Given the description of an element on the screen output the (x, y) to click on. 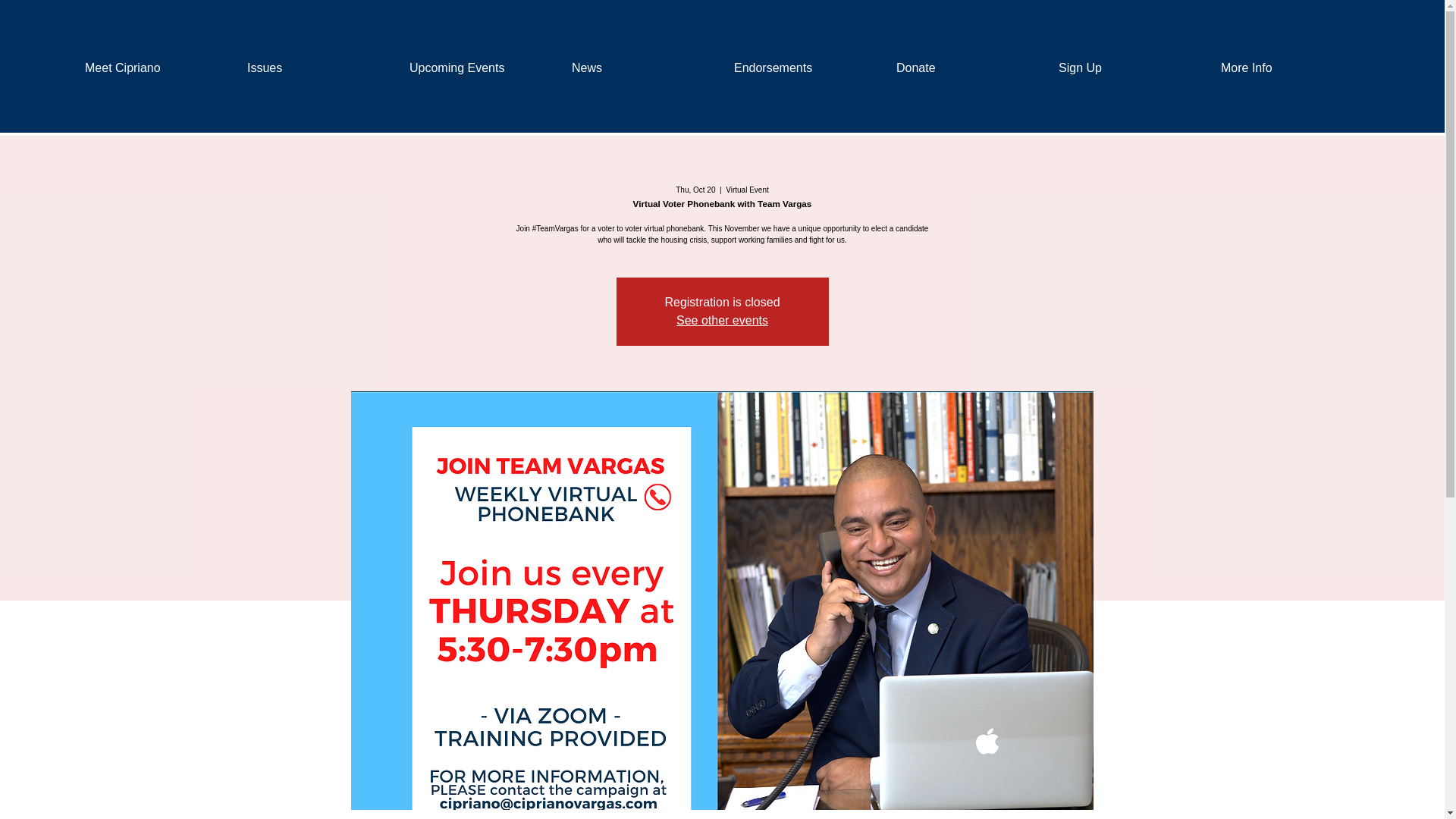
Issues (316, 67)
Endorsements (803, 67)
Upcoming Events (478, 67)
Meet Cipriano (154, 67)
Sign Up (1127, 67)
See other events (722, 319)
News (641, 67)
Donate (965, 67)
